Given the description of an element on the screen output the (x, y) to click on. 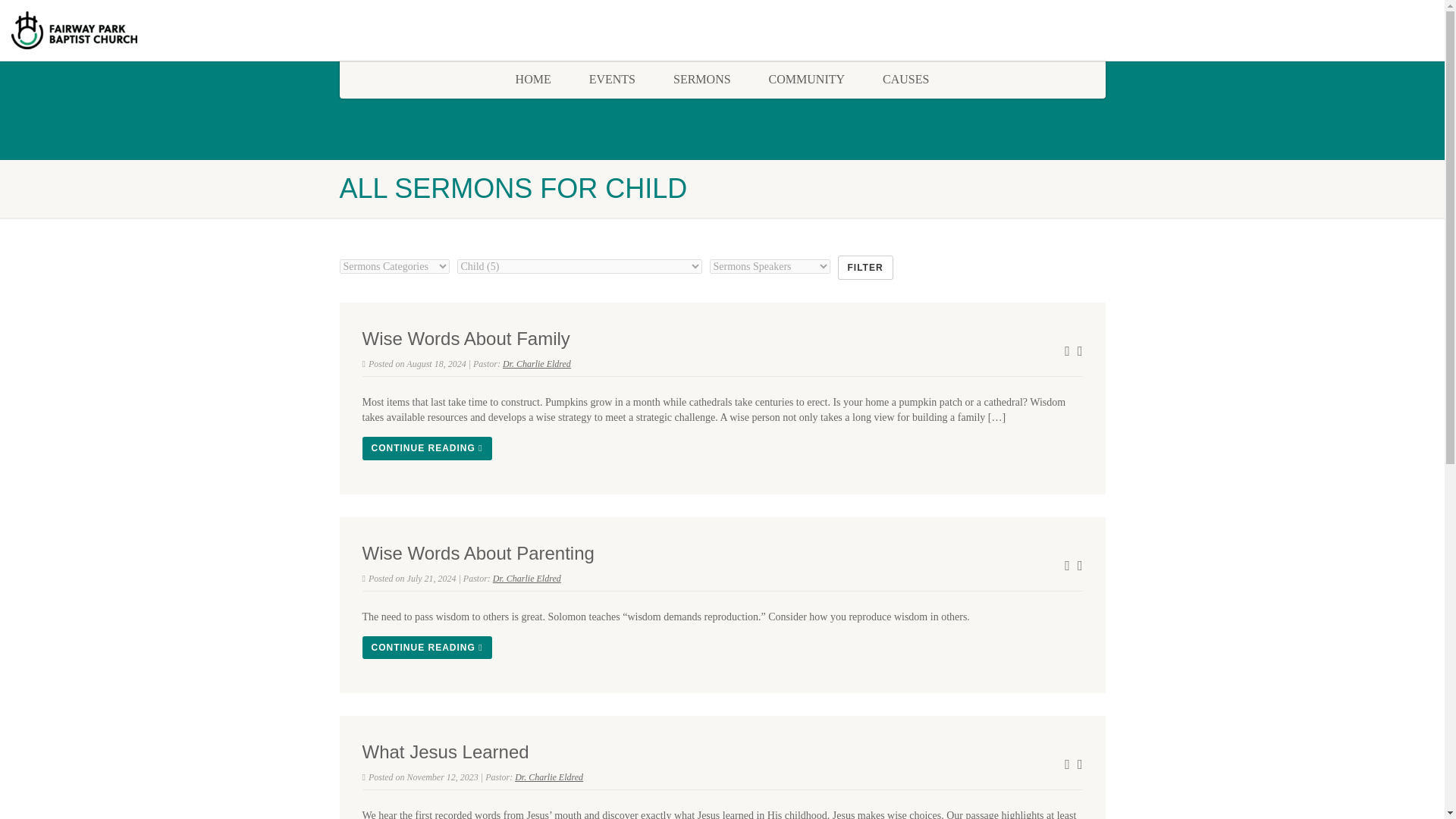
Dr. Charlie Eldred (536, 363)
Logo (240, 30)
Filter (864, 267)
Dr. Charlie Eldred (549, 777)
Filter (864, 267)
What Jesus Learned (445, 752)
Wise Words About Family (466, 338)
CONTINUE READING (427, 447)
EVENTS (611, 79)
COMMUNITY (806, 79)
